Given the description of an element on the screen output the (x, y) to click on. 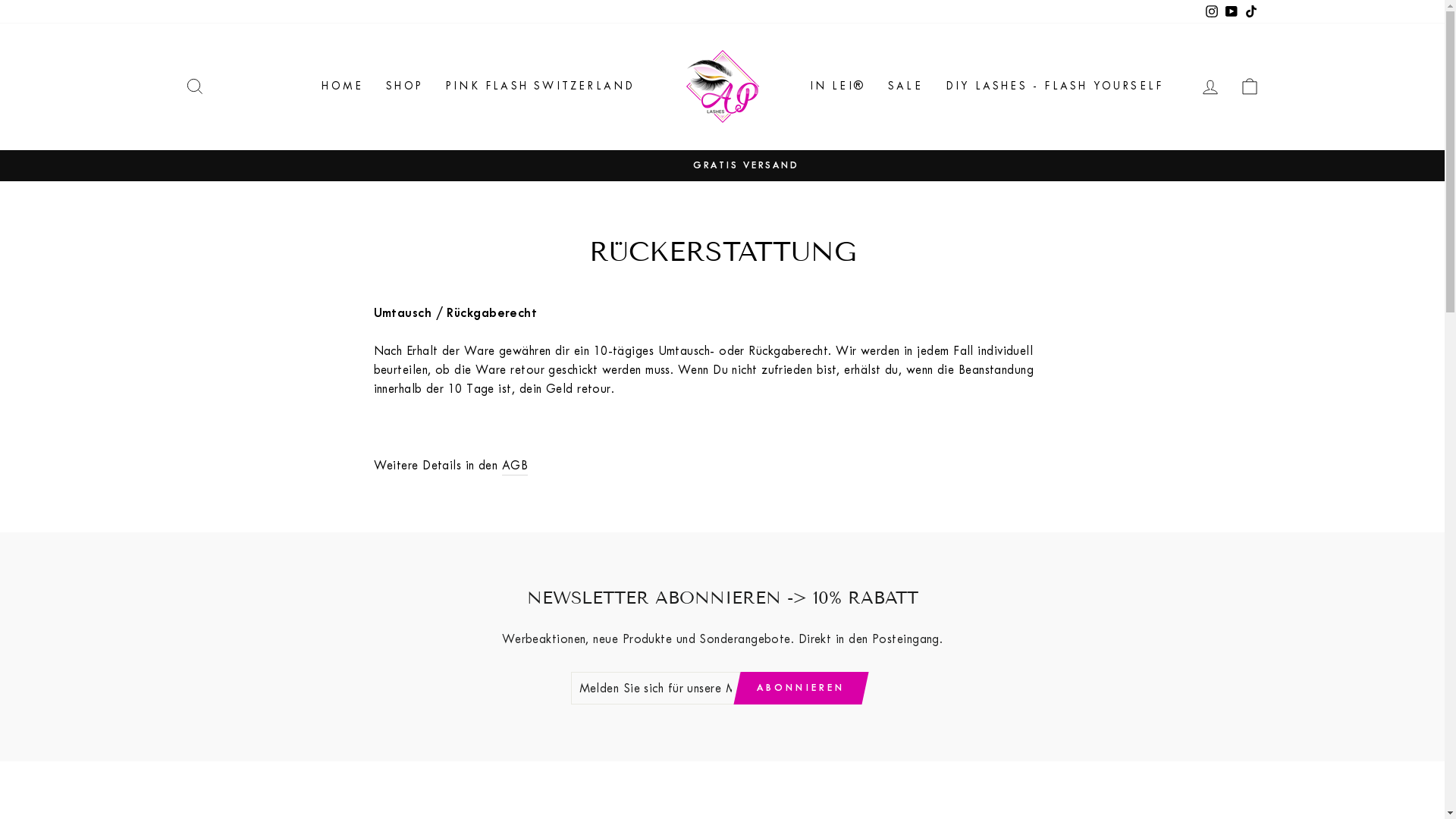
Direkt zum Inhalt Element type: text (0, 0)
EINKAUFSWAGEN Element type: text (1249, 86)
AGB Element type: text (514, 465)
PINK FLASH SWITZERLAND Element type: text (540, 86)
SHOP Element type: text (404, 86)
SUCHE Element type: text (193, 86)
DIY LASHES - FLASH YOURSELF Element type: text (1054, 86)
Instagram Element type: text (1210, 11)
YouTube Element type: text (1230, 11)
TikTok Element type: text (1250, 11)
EINLOGGEN Element type: text (1210, 86)
ABONNIEREN Element type: text (800, 687)
SALE Element type: text (905, 86)
HOME Element type: text (342, 86)
